Given the description of an element on the screen output the (x, y) to click on. 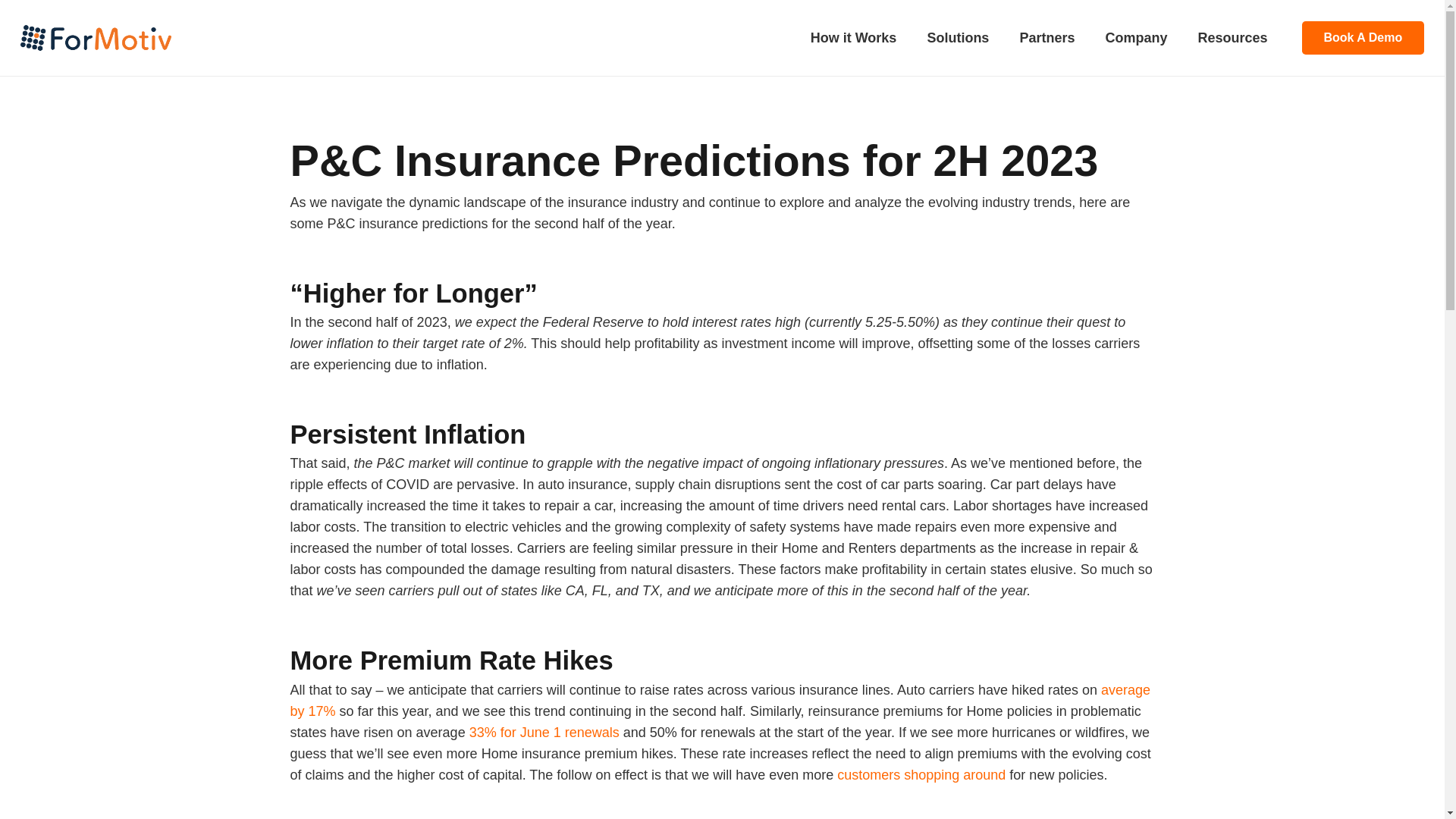
Solutions (957, 37)
Company (1135, 37)
customers shopping around (921, 774)
Resources (1232, 37)
Book A Demo (1362, 38)
Partners (1046, 37)
How it Works (853, 37)
